Given the description of an element on the screen output the (x, y) to click on. 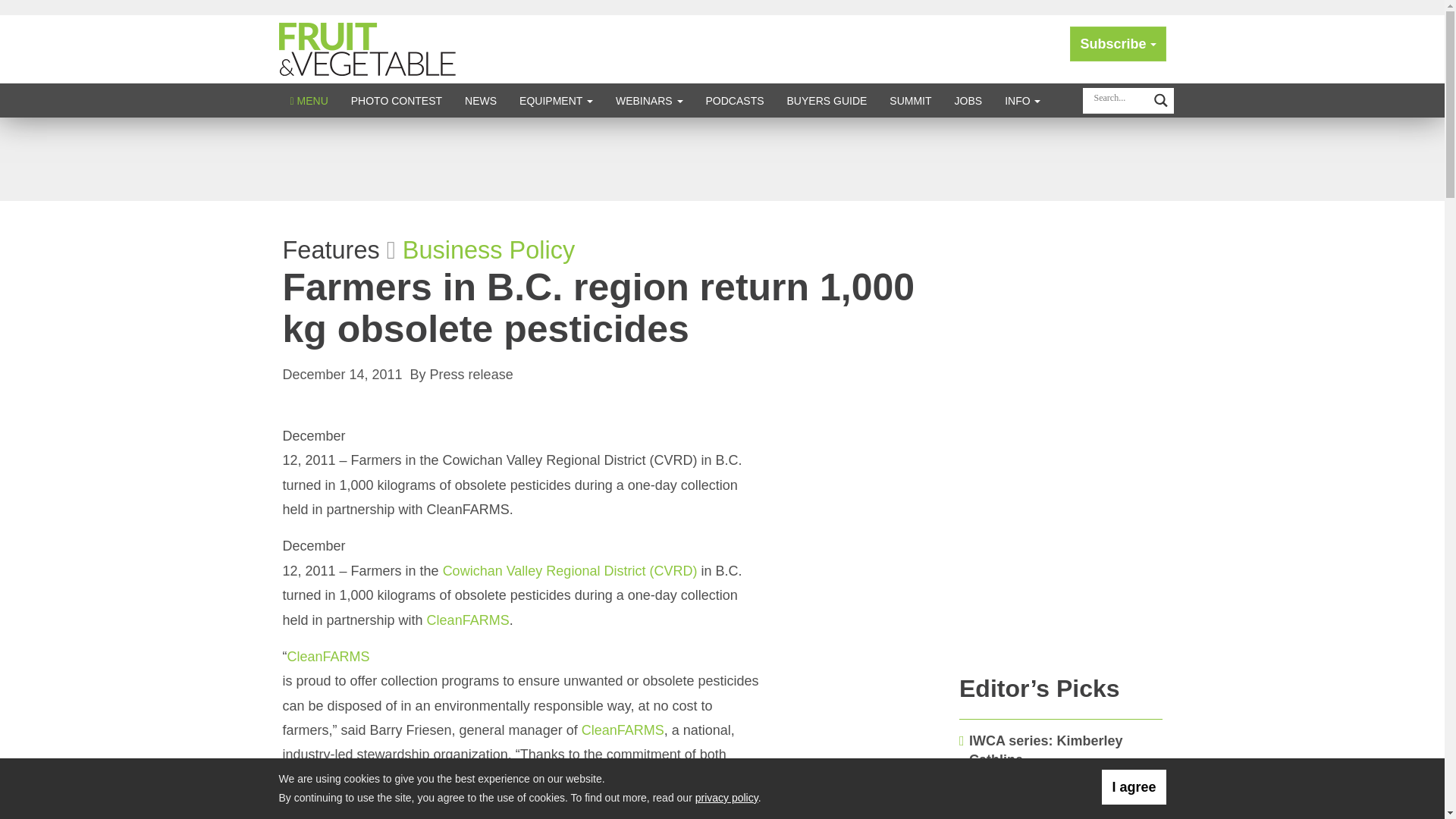
3rd party ad content (721, 159)
INFO (1021, 100)
EQUIPMENT (556, 100)
Click to show site navigation (309, 100)
SUMMIT (909, 100)
PODCASTS (735, 100)
BUYERS GUIDE (827, 100)
PHOTO CONTEST (395, 100)
Subscribe (1118, 43)
JOBS (968, 100)
